Given the description of an element on the screen output the (x, y) to click on. 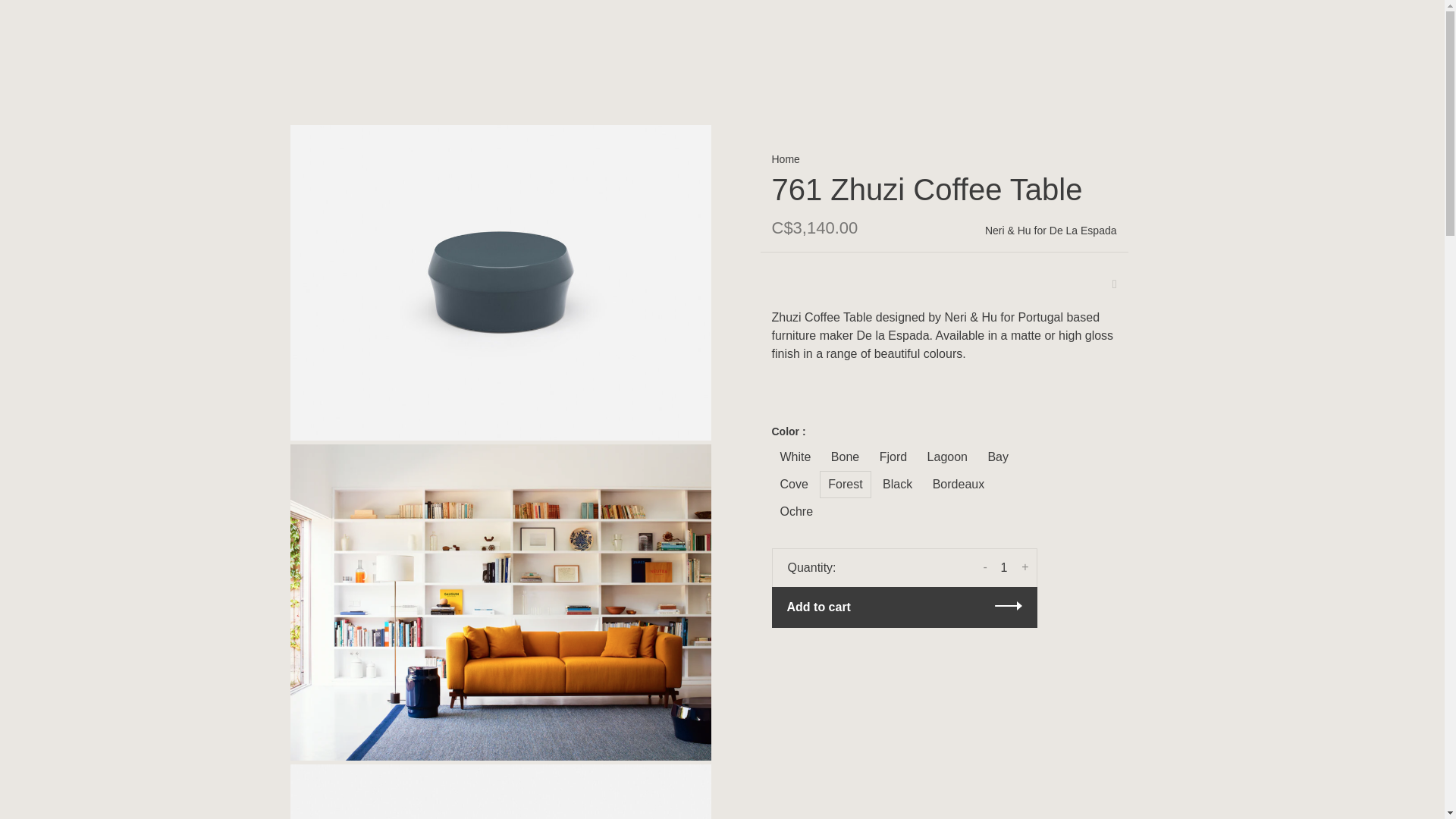
1 (1003, 567)
